Given the description of an element on the screen output the (x, y) to click on. 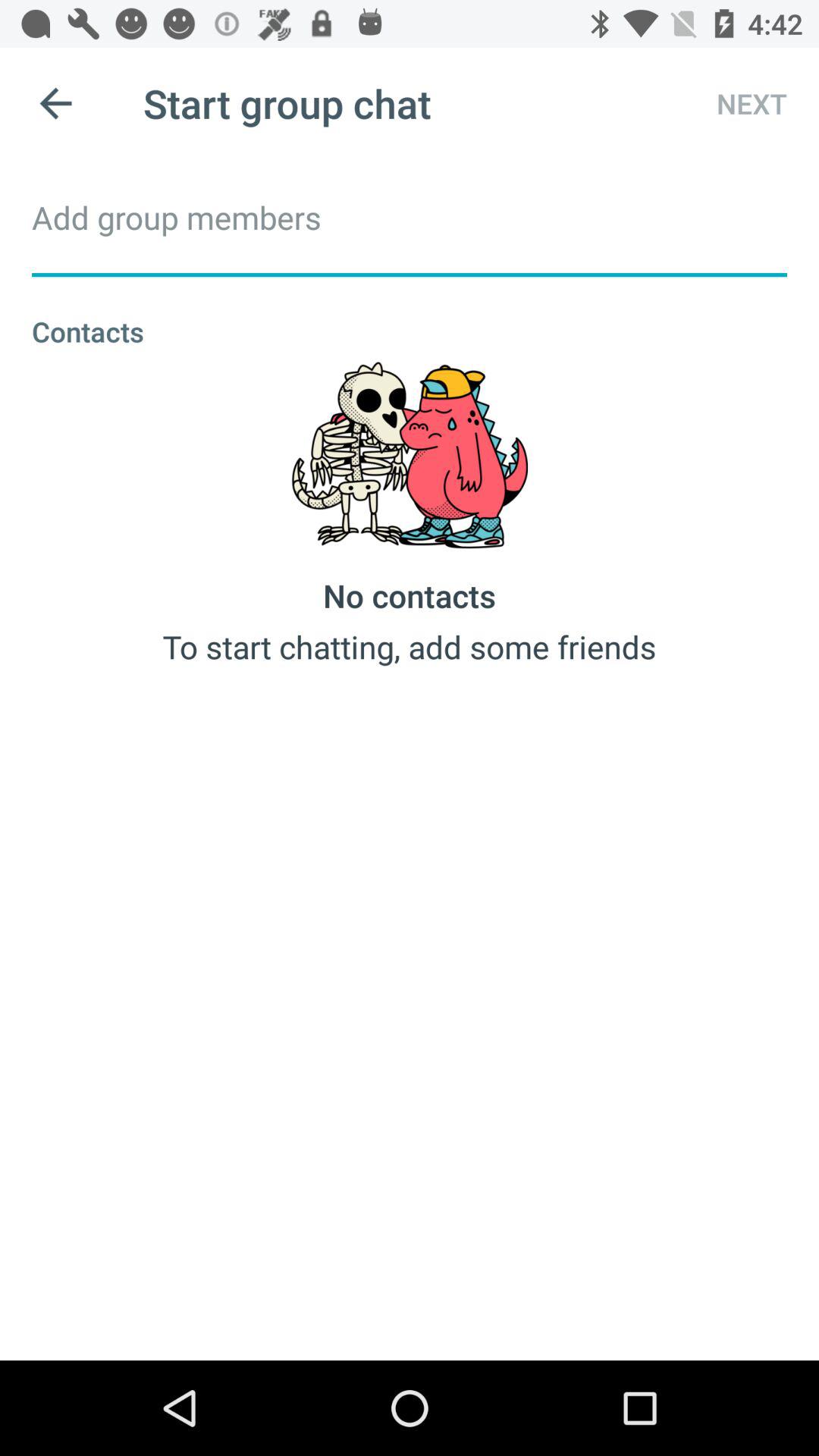
flip to next icon (737, 103)
